Given the description of an element on the screen output the (x, y) to click on. 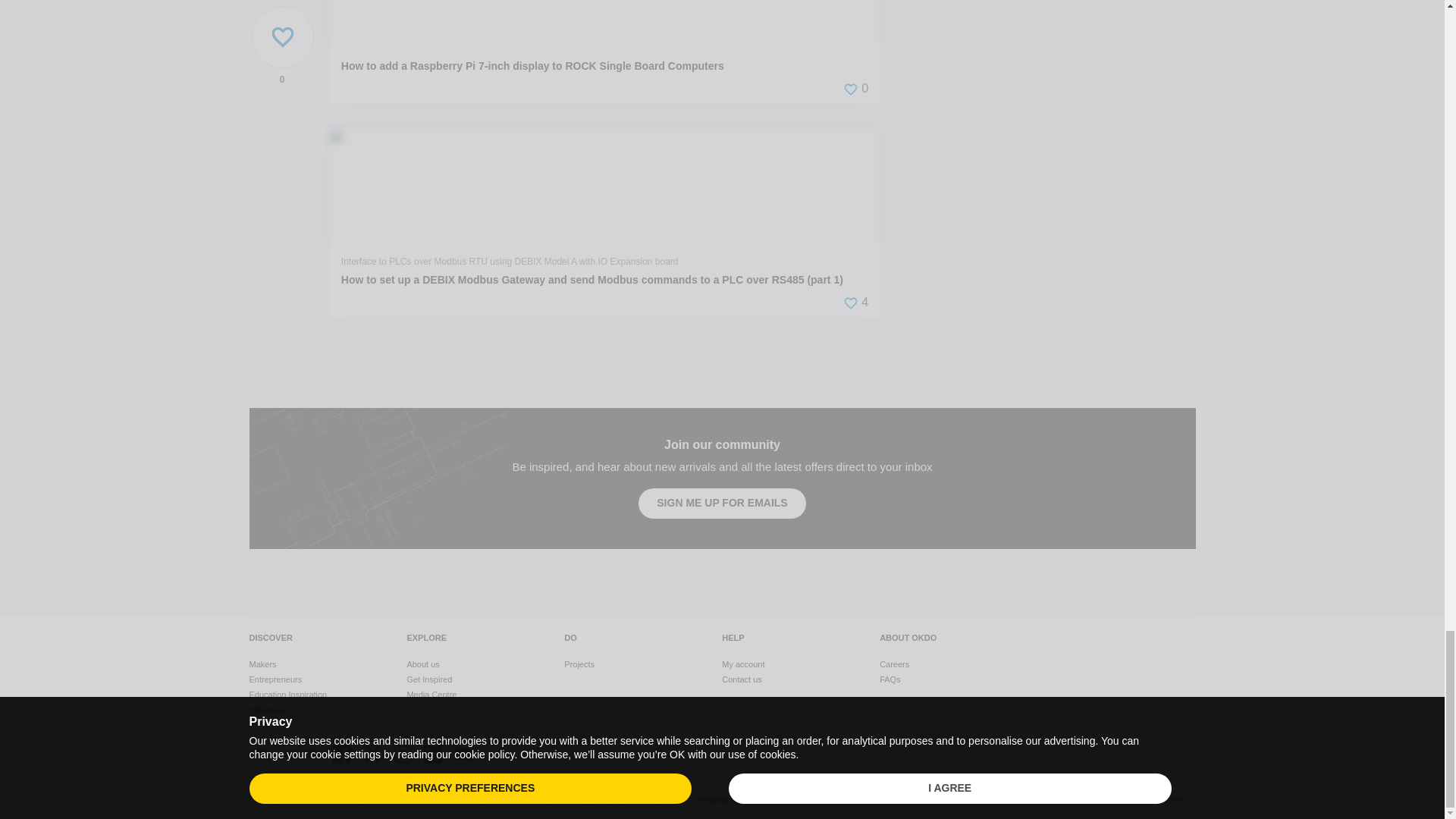
Facebook (341, 752)
Entrepreneurs (274, 678)
Media Centre (431, 694)
Contact us (741, 678)
Projects (579, 664)
My account (743, 664)
Makers (262, 664)
Twitter (371, 752)
Get Inspired (428, 678)
Education Inspiration (287, 694)
